Given the description of an element on the screen output the (x, y) to click on. 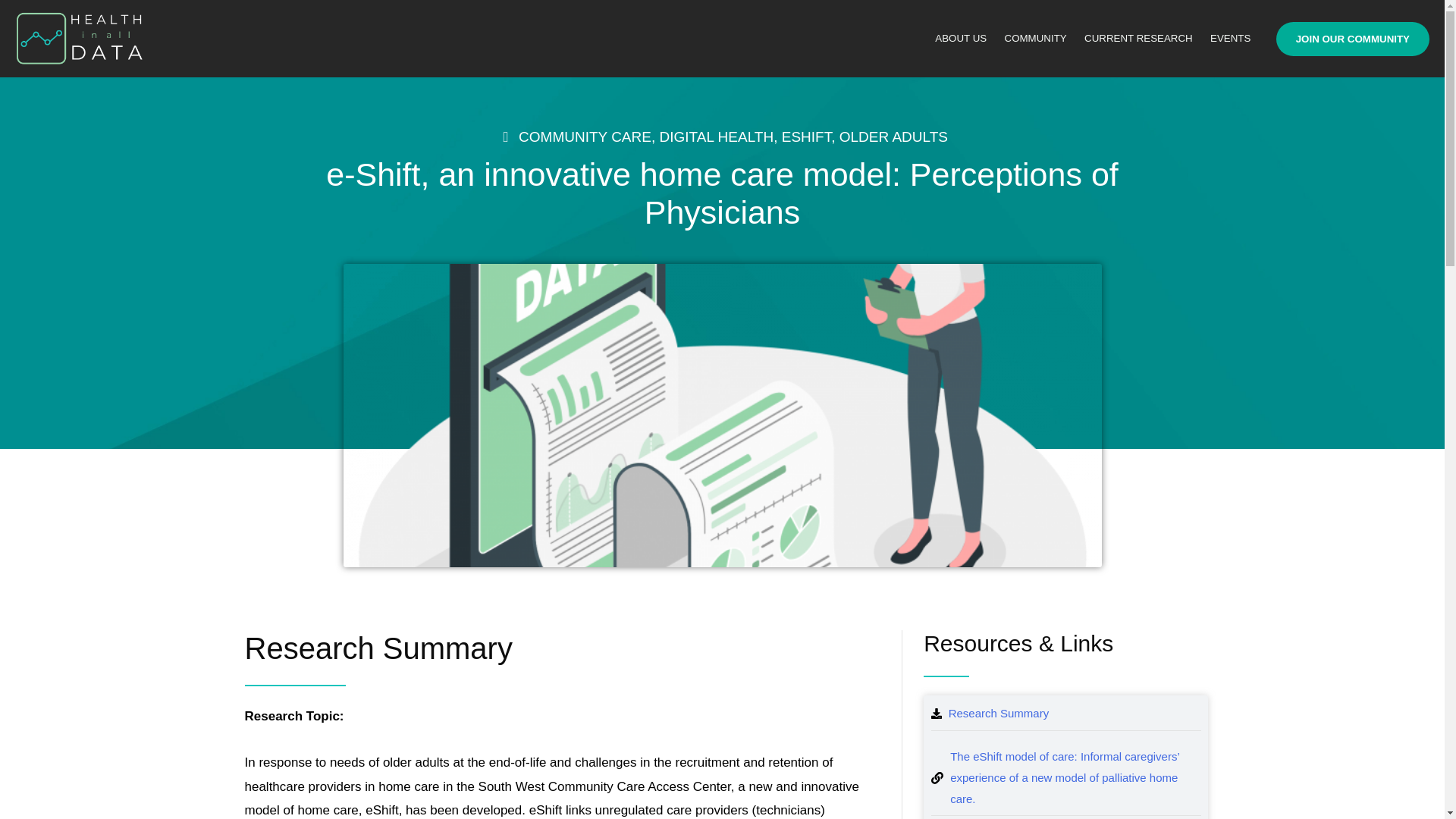
ABOUT US (961, 38)
JOIN OUR COMMUNITY (1352, 39)
Research Summary (989, 712)
COMMUNITY (1036, 38)
EVENTS (1231, 38)
CURRENT RESEARCH (1139, 38)
